Given the description of an element on the screen output the (x, y) to click on. 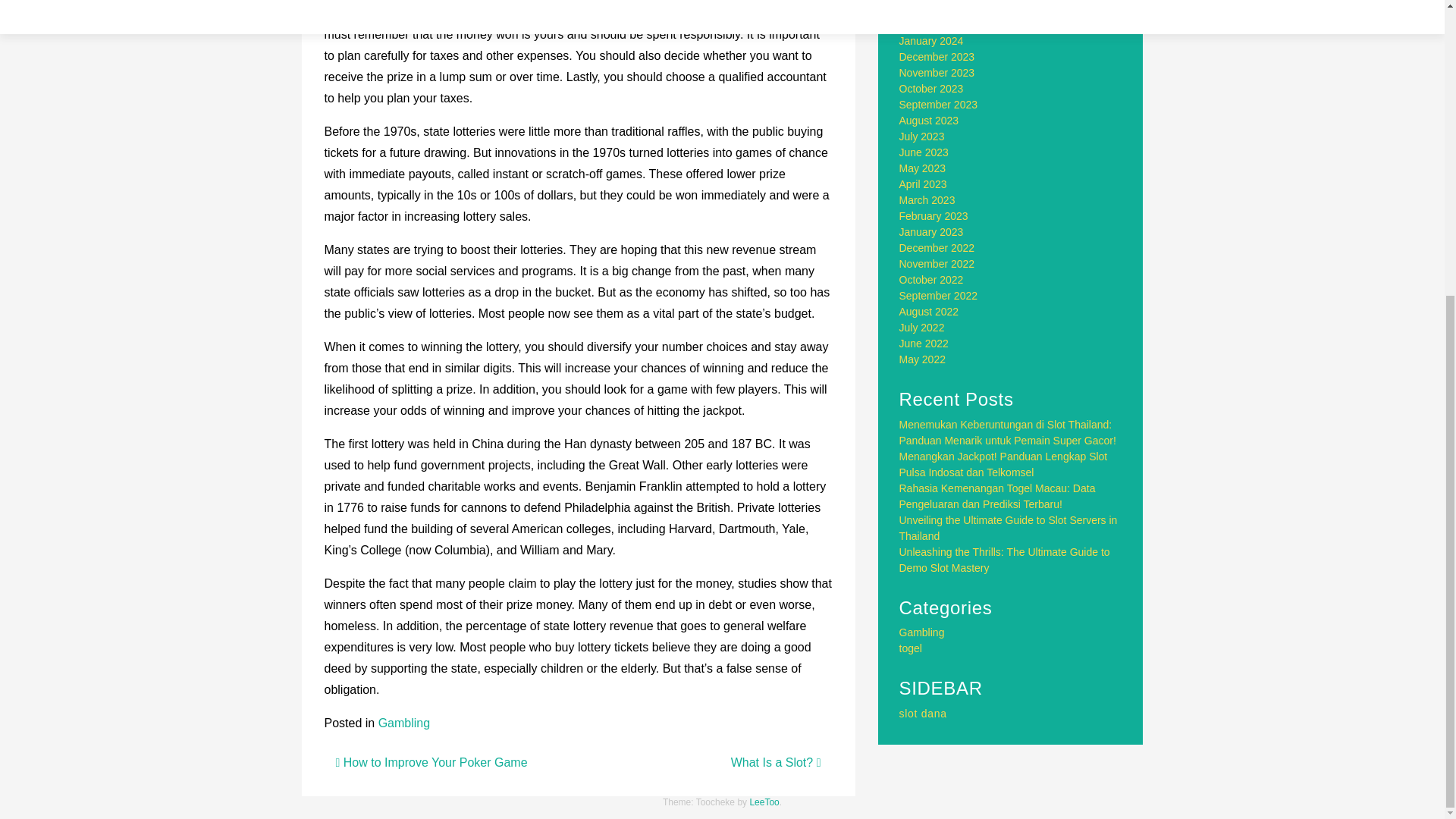
October 2022 (931, 279)
August 2023 (929, 120)
July 2023 (921, 136)
February 2023 (933, 215)
May 2023 (921, 168)
July 2022 (921, 327)
Gambling (403, 722)
 How to Improve Your Poker Game (430, 762)
May 2022 (921, 358)
November 2023 (937, 72)
March 2024 (927, 9)
Unveiling the Ultimate Guide to Slot Servers in Thailand (1008, 528)
